Given the description of an element on the screen output the (x, y) to click on. 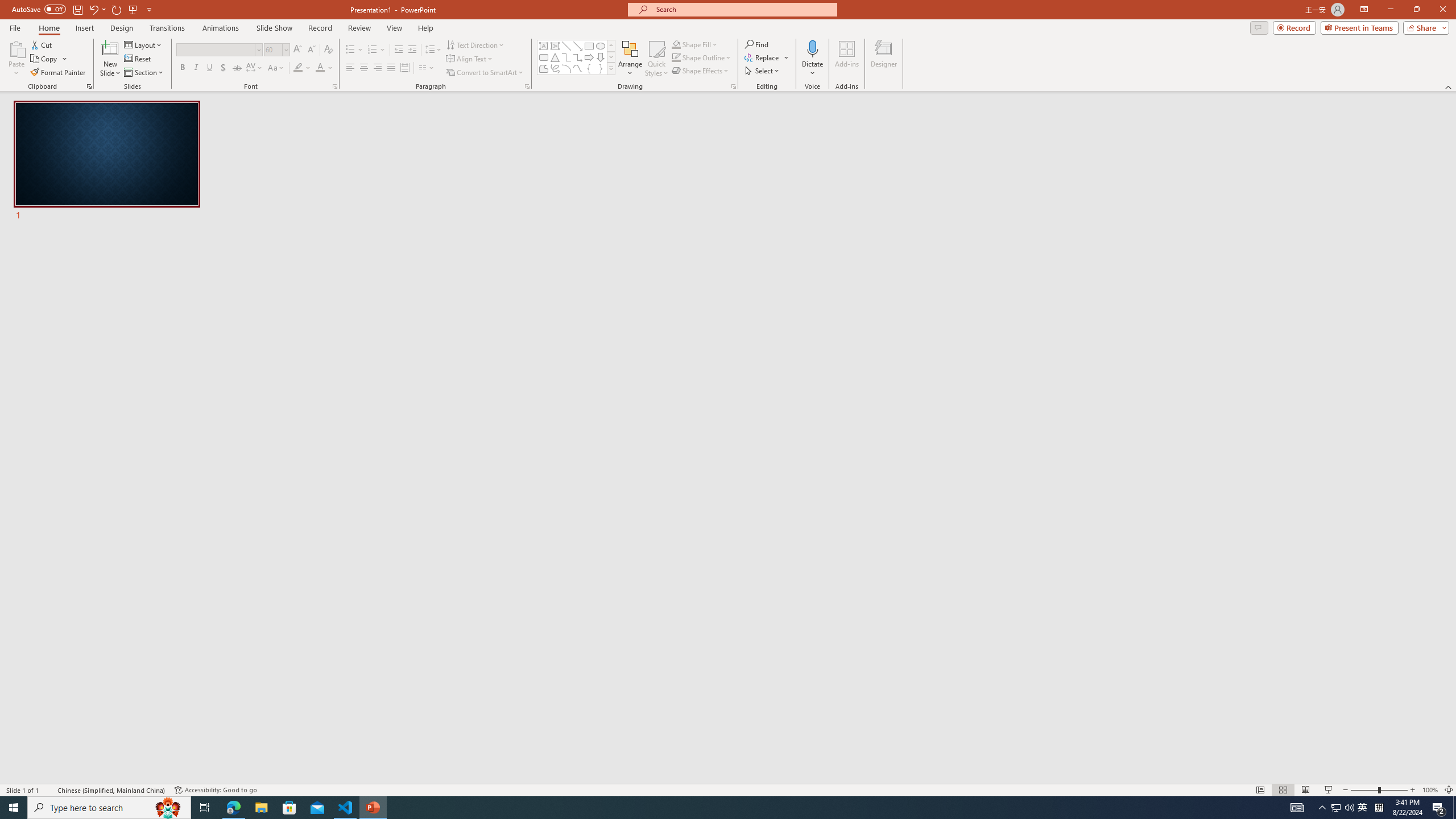
Shapes (611, 68)
Shape Fill Orange, Accent 2 (675, 44)
Find... (756, 44)
Convert to SmartArt (485, 72)
